Given the description of an element on the screen output the (x, y) to click on. 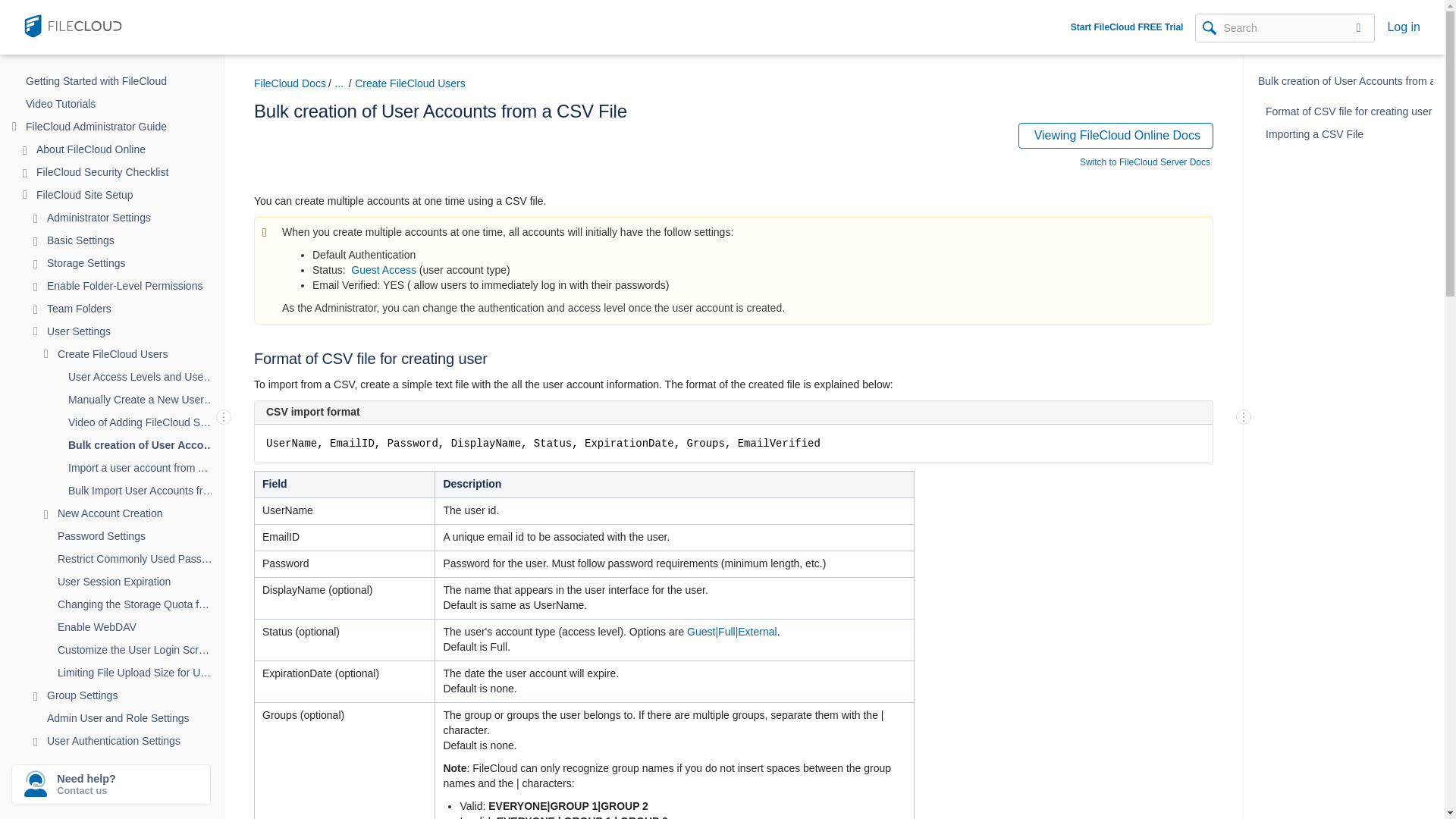
Enable Folder-Level Permissions (140, 285)
Manually Create a New User Account (151, 399)
User Authentication Settings (140, 740)
Share Settings (140, 785)
Limiting File Upload Size for Users (146, 671)
About FileCloud Online (135, 149)
Bulk Import User Accounts from AD Server (151, 490)
Hint: double-click to select code (739, 448)
FileCloud Administrator Guide (130, 126)
FileCloud Security Checklist (135, 171)
Changing the Storage Quota for Users (146, 603)
User Access Levels and User Types (151, 376)
Basic Settings (140, 240)
